Given the description of an element on the screen output the (x, y) to click on. 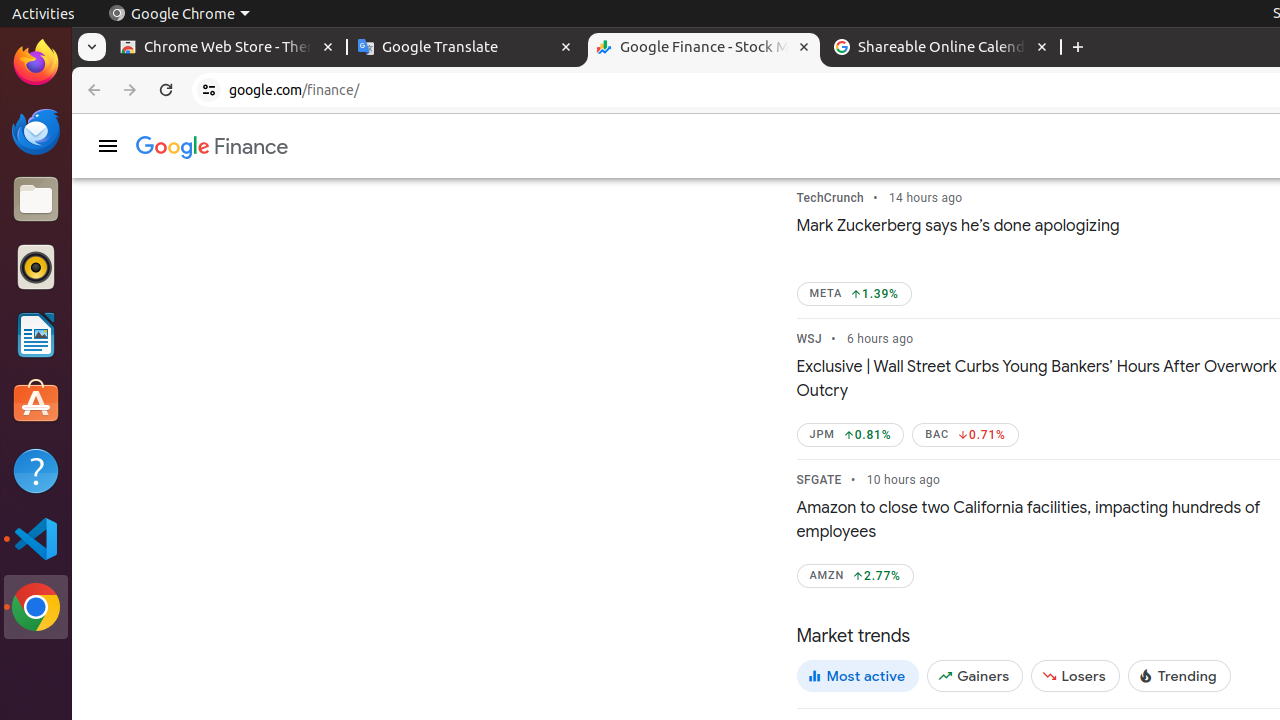
Ubuntu Software Element type: push-button (36, 402)
Help Element type: push-button (36, 470)
META Up by 1.39% Element type: link (854, 294)
Main menu Element type: push-button (108, 146)
Back Element type: push-button (91, 90)
